Given the description of an element on the screen output the (x, y) to click on. 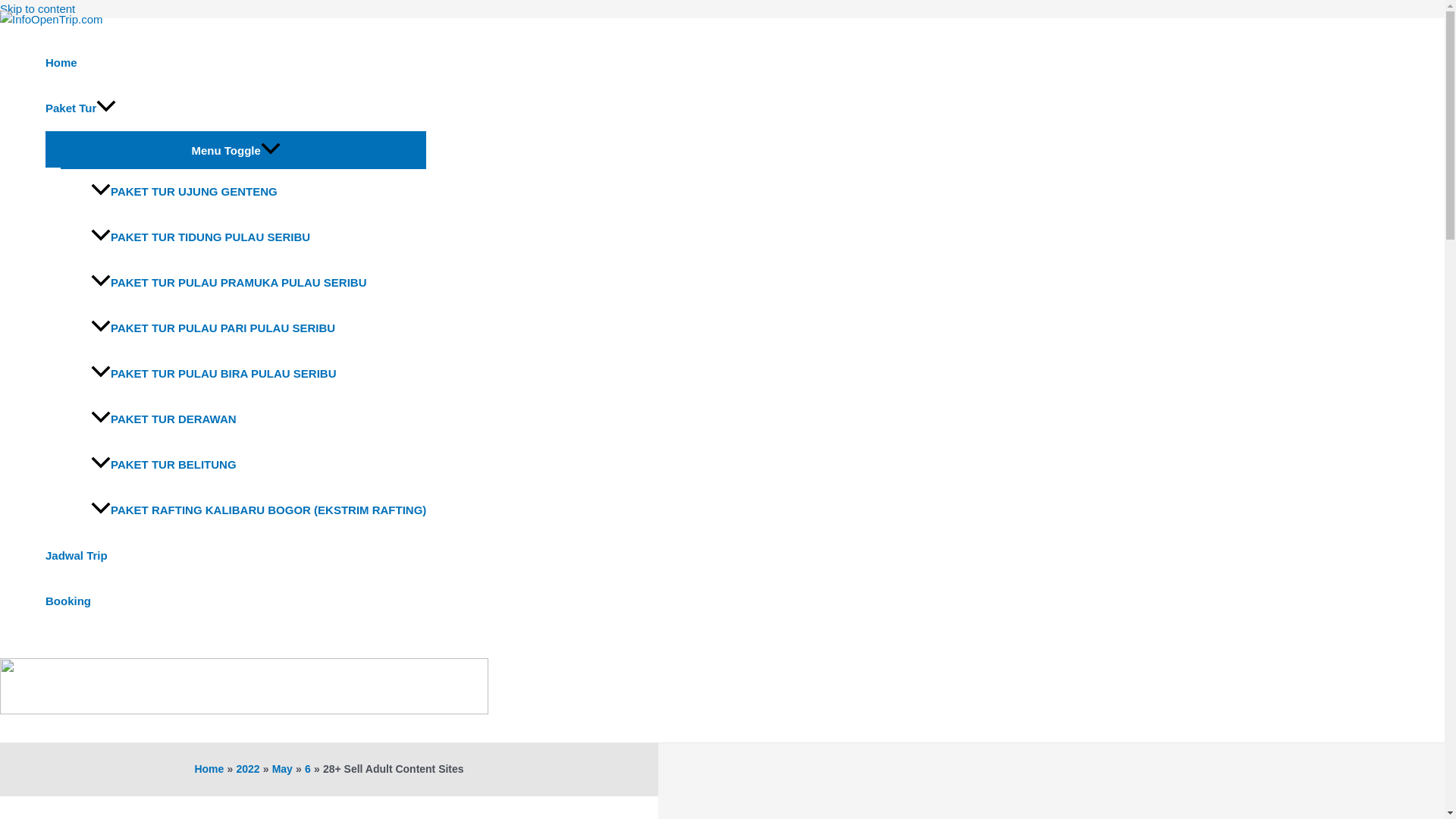
Skip to content (37, 8)
PAKET TUR PULAU PARI PULAU SERIBU (258, 328)
Home (208, 768)
PAKET TUR TIDUNG PULAU SERIBU (258, 237)
2022 (247, 768)
PAKET TUR PULAU PRAMUKA PULAU SERIBU (258, 282)
PAKET TUR DERAWAN (258, 419)
Booking (235, 601)
Home (235, 62)
Skip to content (37, 8)
